Given the description of an element on the screen output the (x, y) to click on. 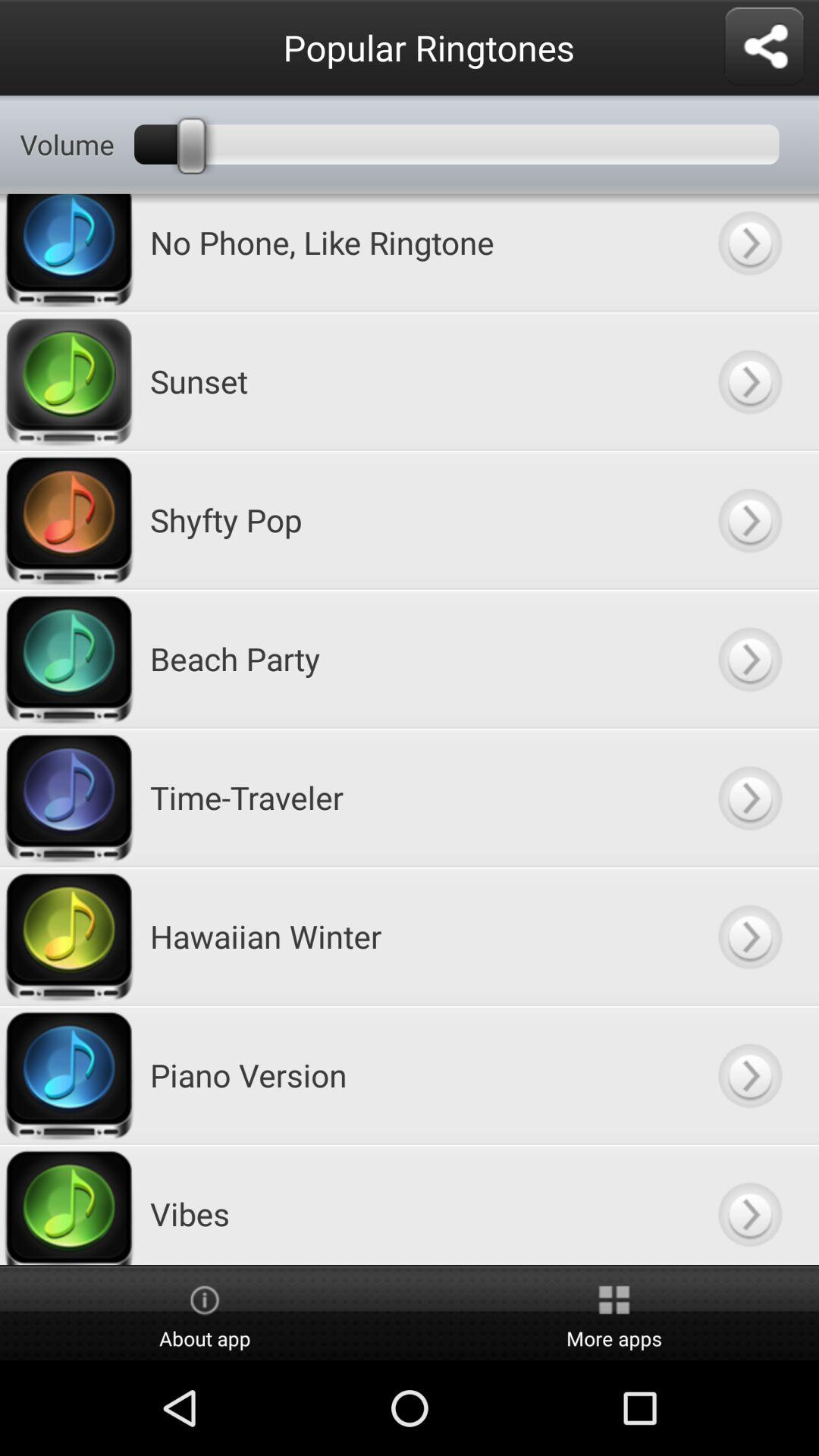
show more information (749, 658)
